Given the description of an element on the screen output the (x, y) to click on. 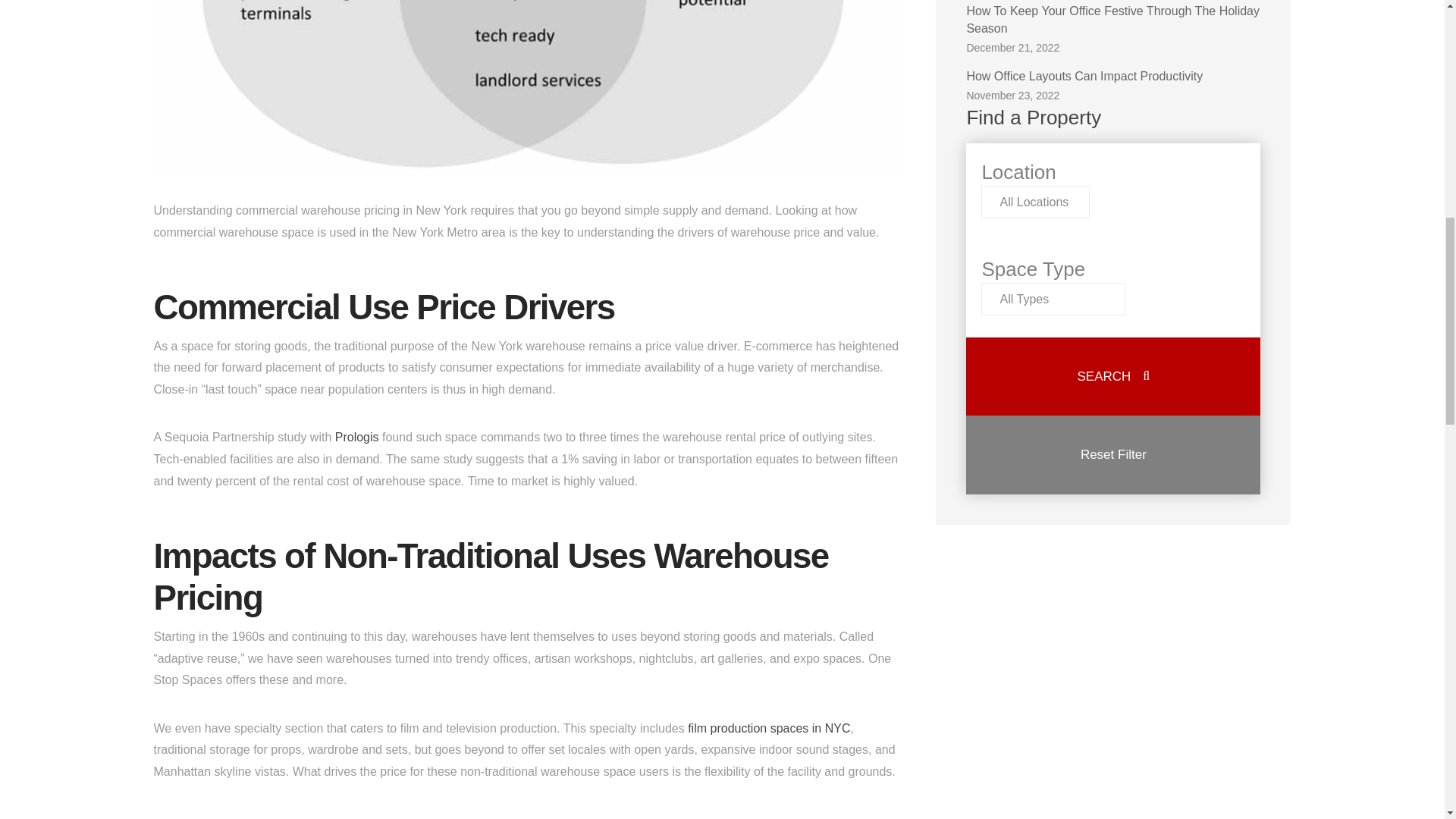
film production spaces in NYC (1113, 80)
Prologis (768, 727)
